Given the description of an element on the screen output the (x, y) to click on. 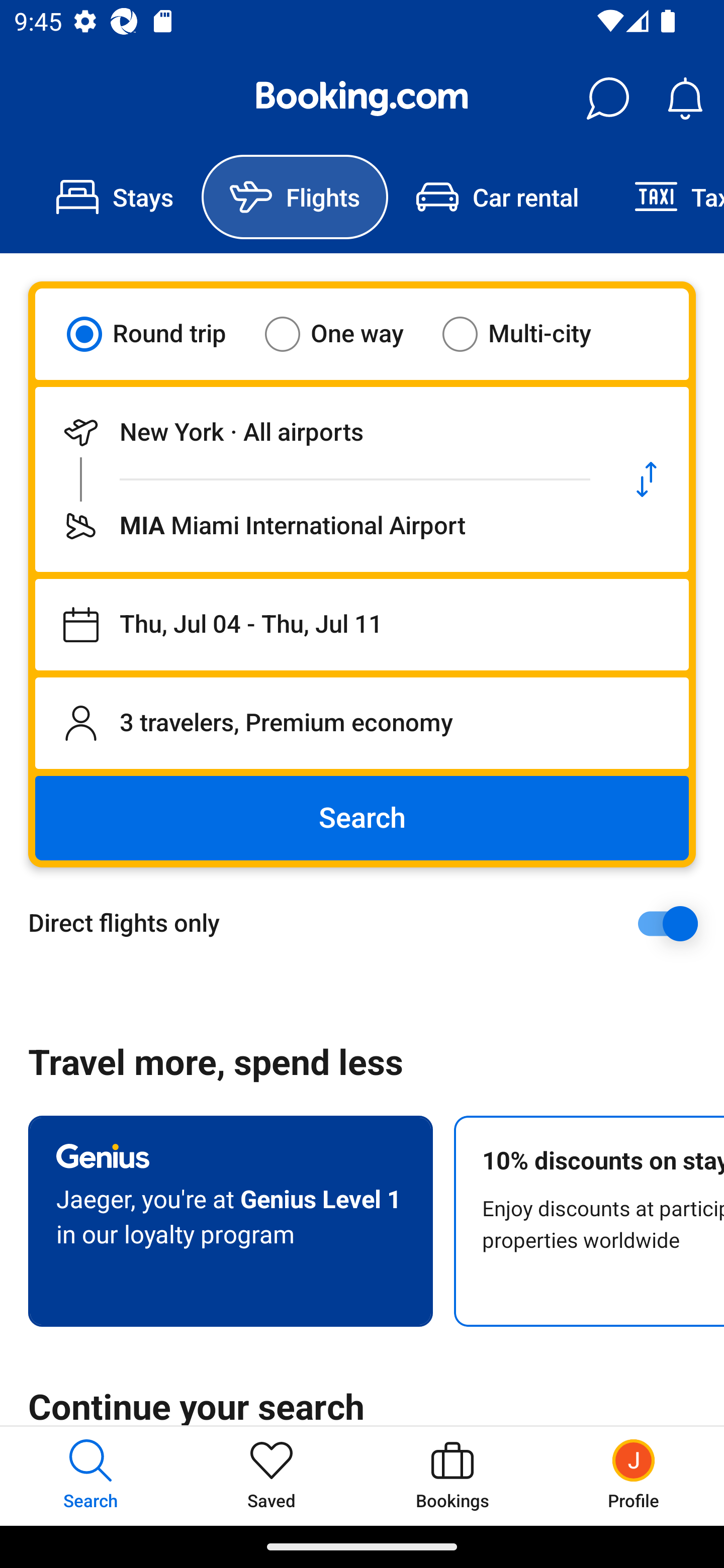
Messages (607, 98)
Notifications (685, 98)
Stays (114, 197)
Flights (294, 197)
Car rental (497, 197)
Taxi (665, 197)
One way (346, 333)
Multi-city (528, 333)
Departing from New York · All airports (319, 432)
Swap departure location and destination (646, 479)
Flying to MIA Miami International Airport (319, 525)
Departing on Thu, Jul 04, returning on Thu, Jul 11 (361, 624)
3 travelers, Premium economy (361, 722)
Search (361, 818)
Direct flights only (369, 923)
Saved (271, 1475)
Bookings (452, 1475)
Profile (633, 1475)
